Given the description of an element on the screen output the (x, y) to click on. 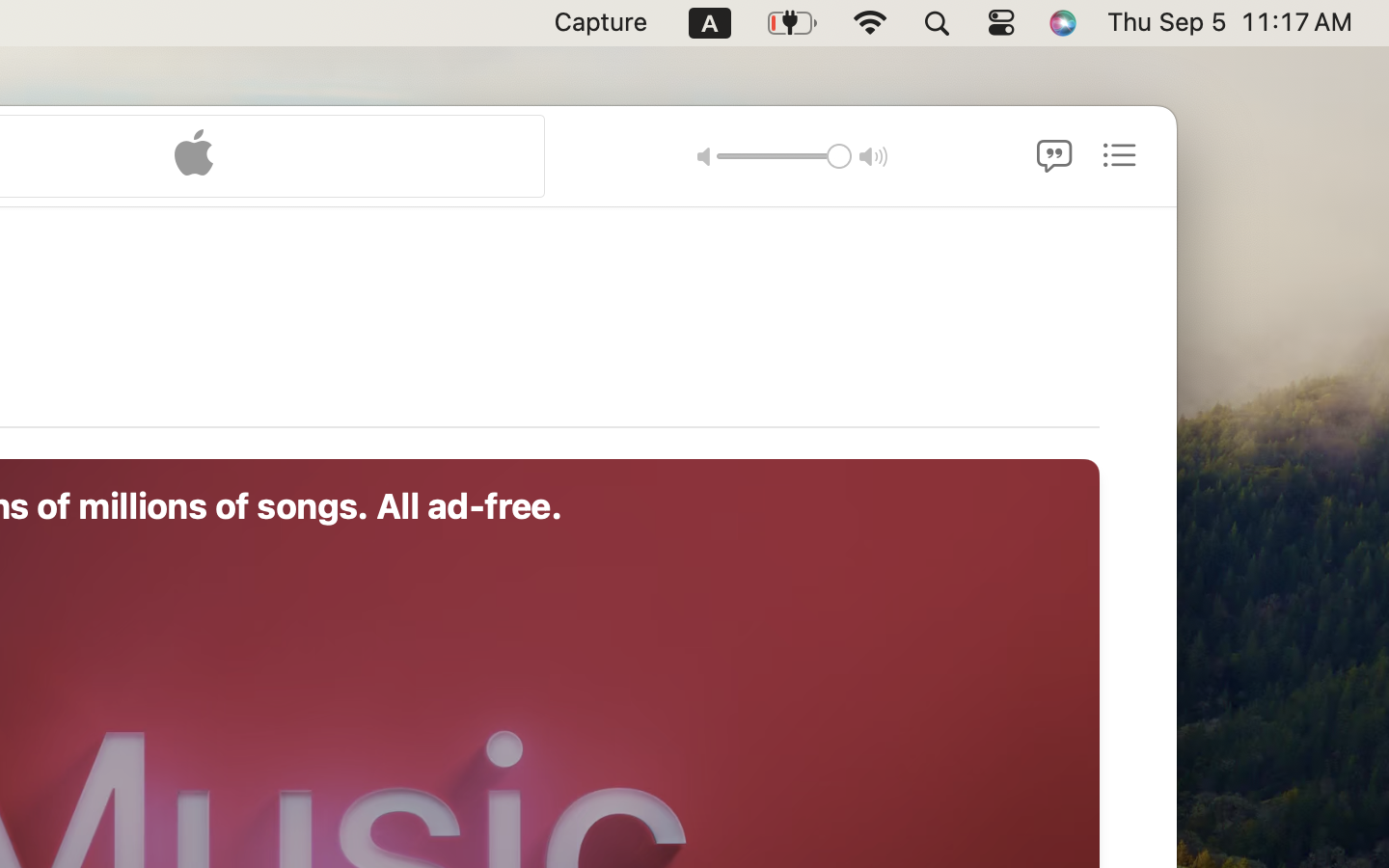
1.0 Element type: AXSlider (782, 155)
